Given the description of an element on the screen output the (x, y) to click on. 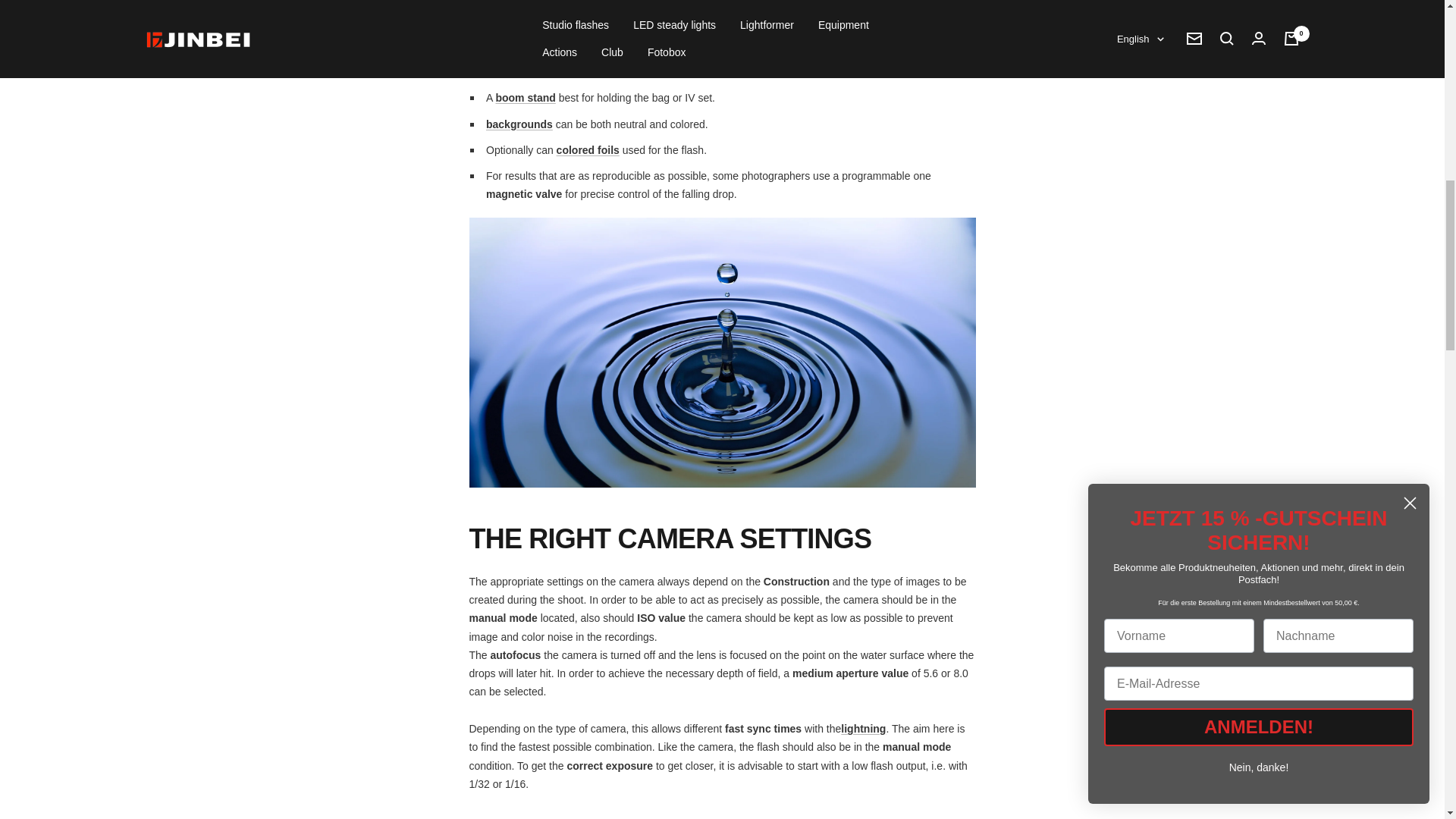
lightning (788, 3)
Jinbei Studioblitze (788, 3)
Jinbei Lampenstative (524, 97)
Jinbei Studioblitze (863, 728)
Farbfolien von Jinbei (588, 150)
